Given the description of an element on the screen output the (x, y) to click on. 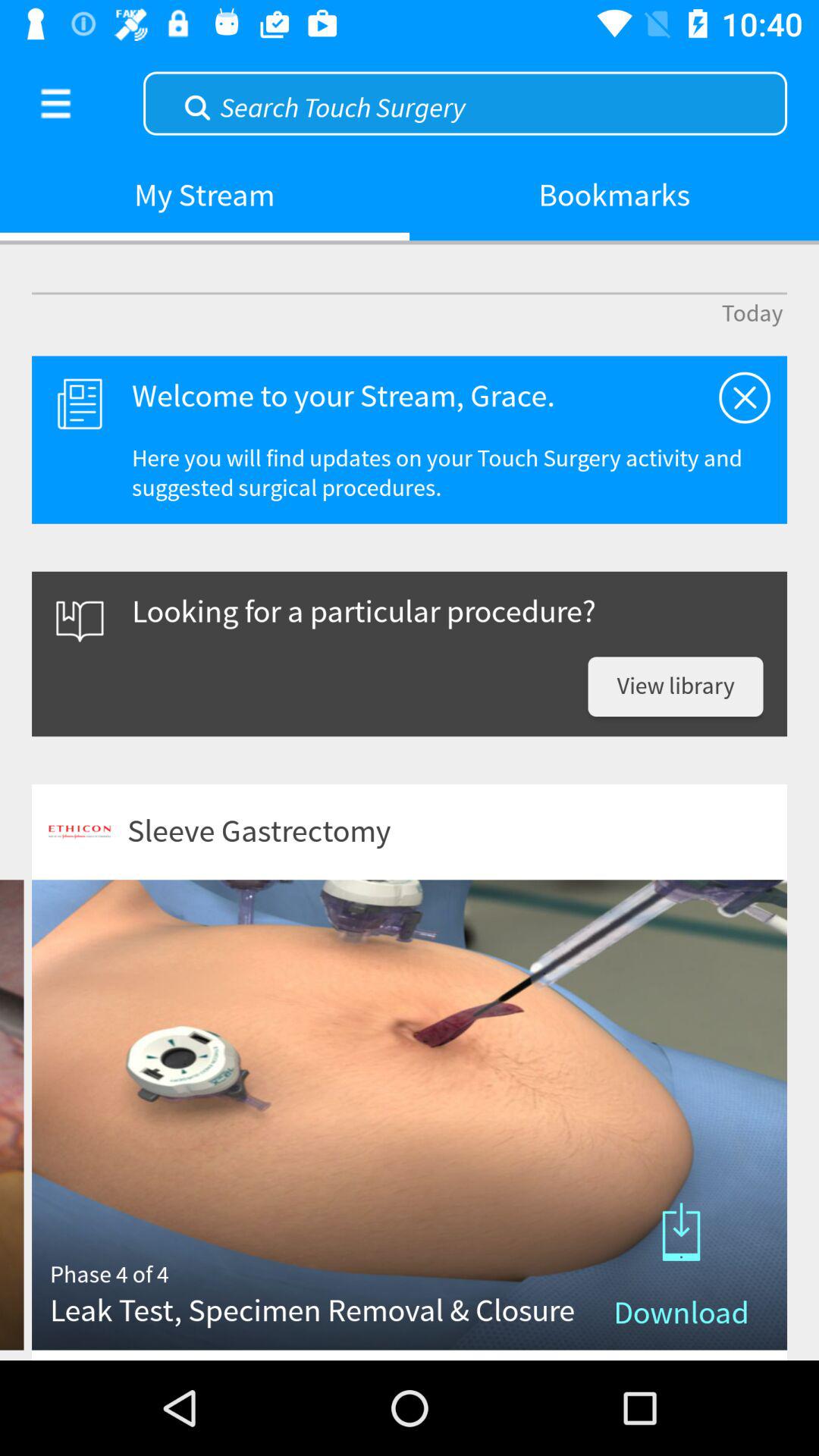
open icon above the sleeve gastrectomy item (675, 686)
